Given the description of an element on the screen output the (x, y) to click on. 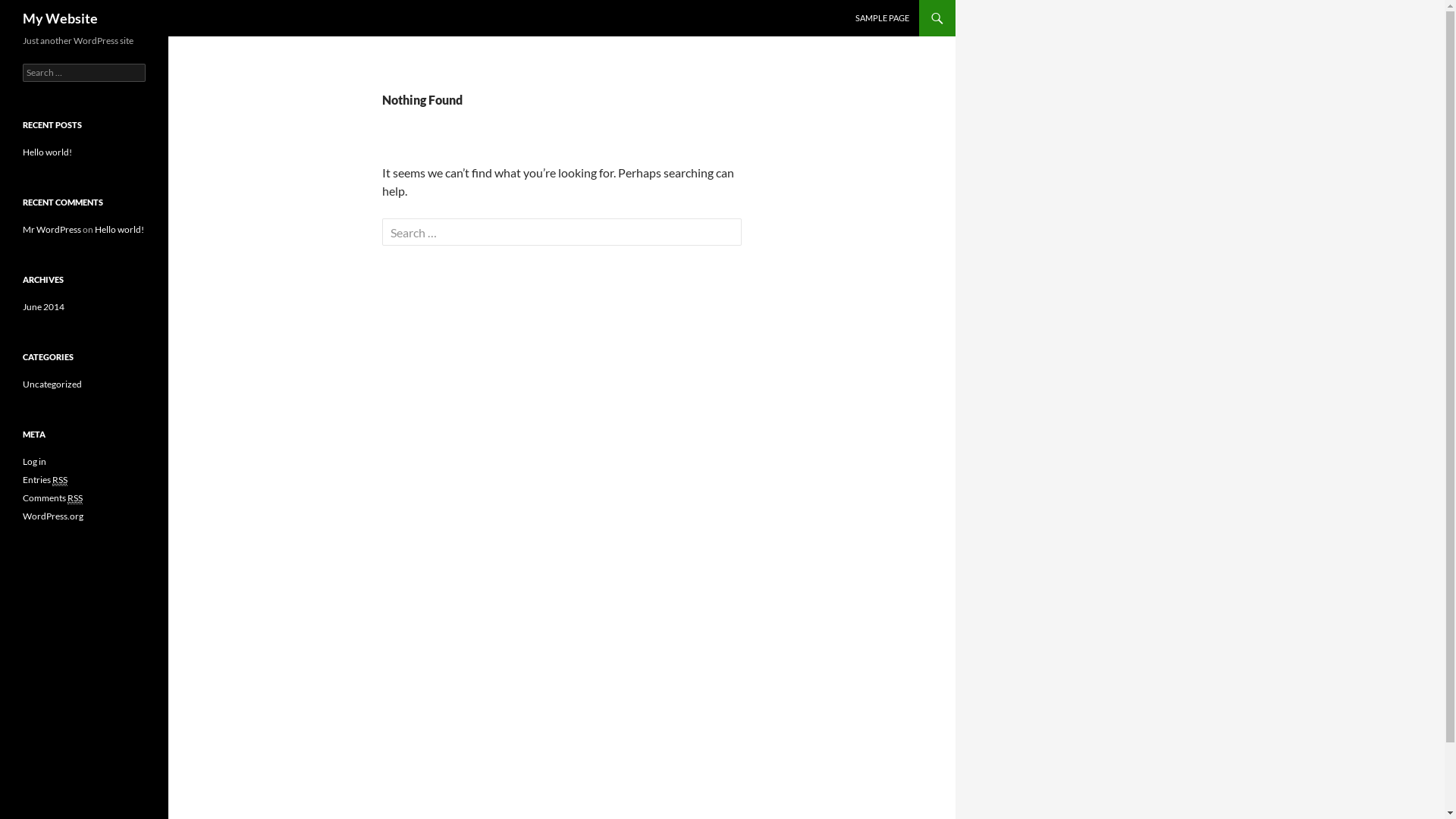
Uncategorized Element type: text (51, 383)
Entries RSS Element type: text (44, 479)
Hello world! Element type: text (119, 229)
Log in Element type: text (34, 461)
My Website Element type: text (59, 17)
June 2014 Element type: text (43, 306)
Search for: Element type: hover (561, 231)
Mr WordPress Element type: text (51, 229)
SAMPLE PAGE Element type: text (882, 18)
SKIP TO CONTENT Element type: text (890, 6)
Hello world! Element type: text (47, 151)
Search Element type: text (29, 9)
WordPress.org Element type: text (52, 515)
Search for: Element type: hover (83, 72)
Search Element type: text (20, 9)
Comments RSS Element type: text (52, 498)
Search Element type: text (40, 13)
